Given the description of an element on the screen output the (x, y) to click on. 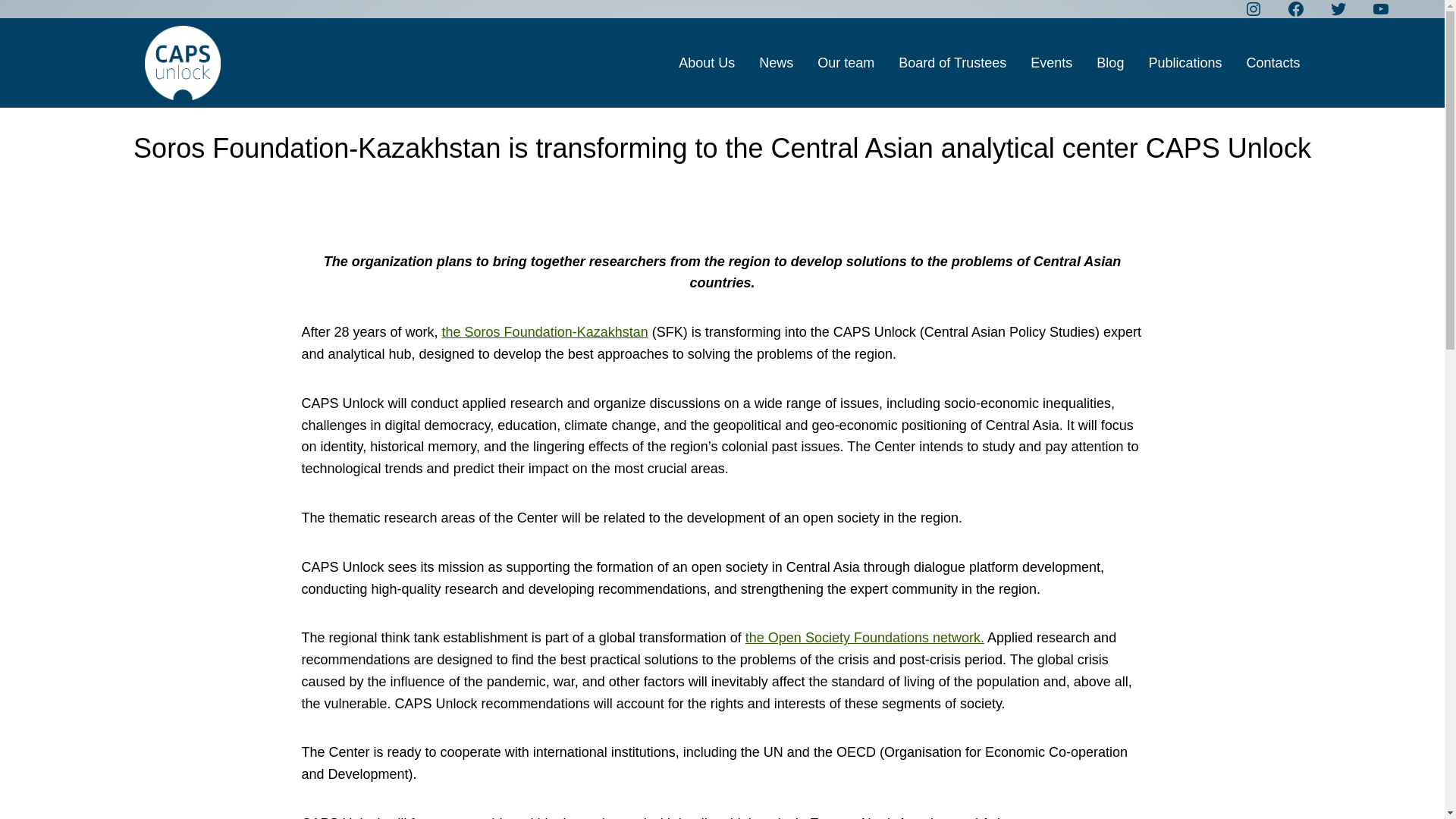
Instagram (1253, 9)
Events (1050, 63)
Board of Trustees (952, 63)
Twitter (1338, 9)
News (775, 63)
Facebook (1295, 9)
YouTube (1380, 9)
Contacts (1273, 63)
About Us (706, 63)
the Soros Foundation-Kazakhstan (544, 331)
Publications (1184, 63)
Our team (845, 63)
the Open Society Foundations network. (864, 637)
Blog (1110, 63)
